Given the description of an element on the screen output the (x, y) to click on. 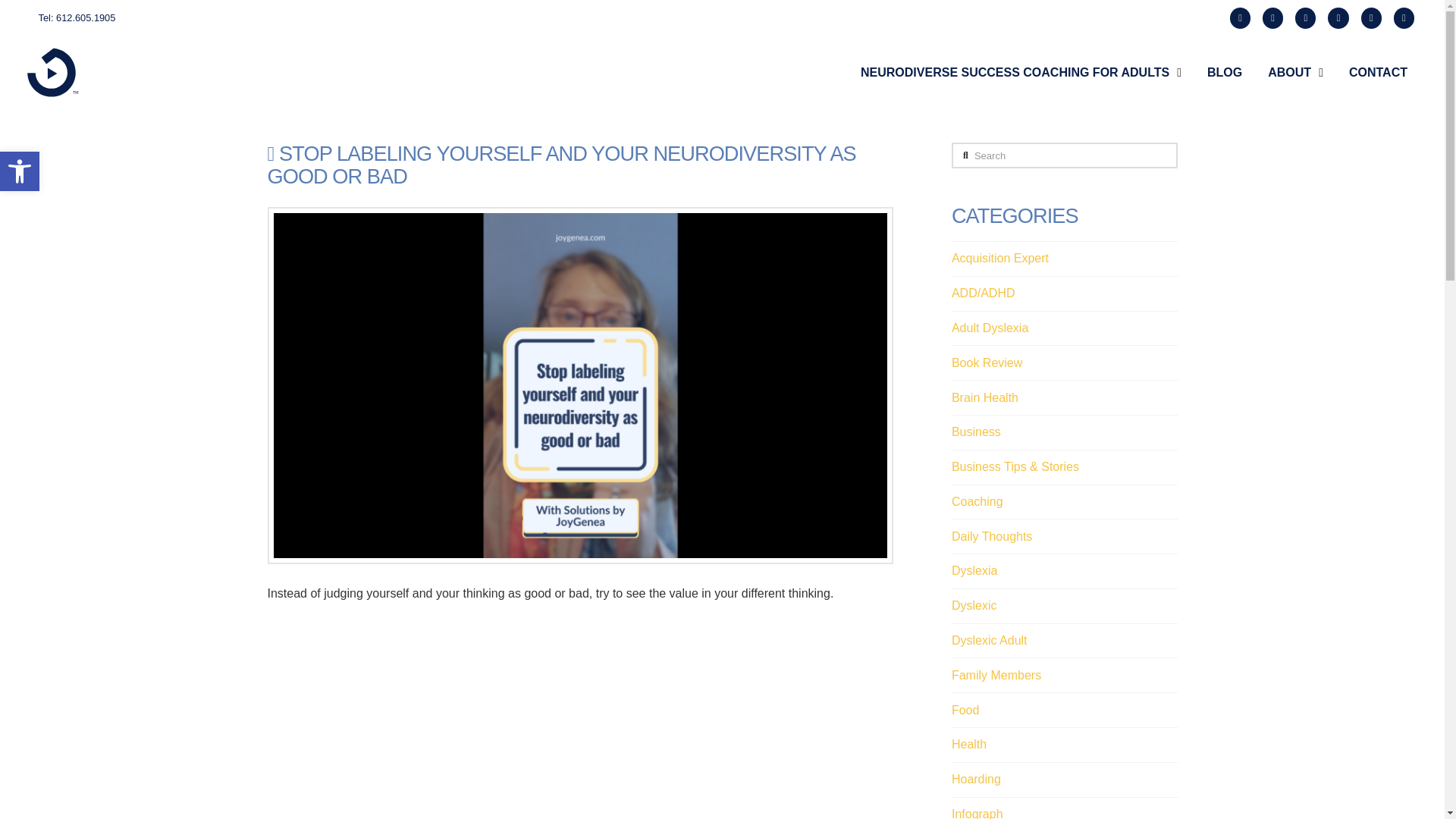
Brain Health (984, 398)
Acquisition Expert (1000, 258)
Business (976, 432)
Daily Thoughts (992, 536)
Coaching (19, 170)
Accessibility Tools (977, 502)
NEURODIVERSE SUCCESS COACHING FOR ADULTS (19, 170)
Adult Dyslexia (1020, 72)
CONTACT (989, 328)
